Given the description of an element on the screen output the (x, y) to click on. 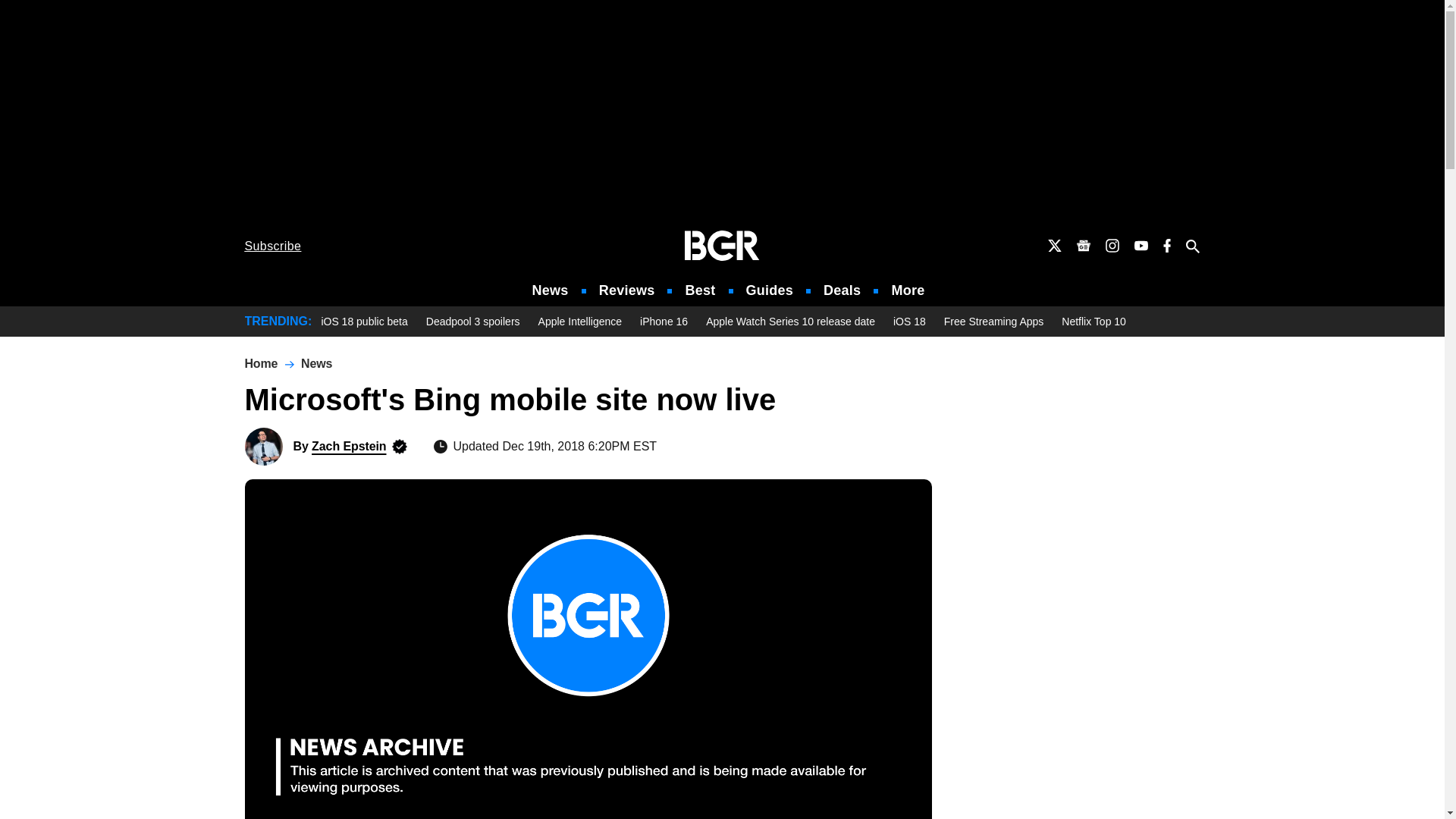
More (907, 290)
Subscribe (272, 245)
Best (699, 290)
Reviews (626, 290)
Deals (842, 290)
News (550, 290)
Guides (769, 290)
Posts by Zach Epstein (348, 445)
Zach Epstein (263, 446)
